Given the description of an element on the screen output the (x, y) to click on. 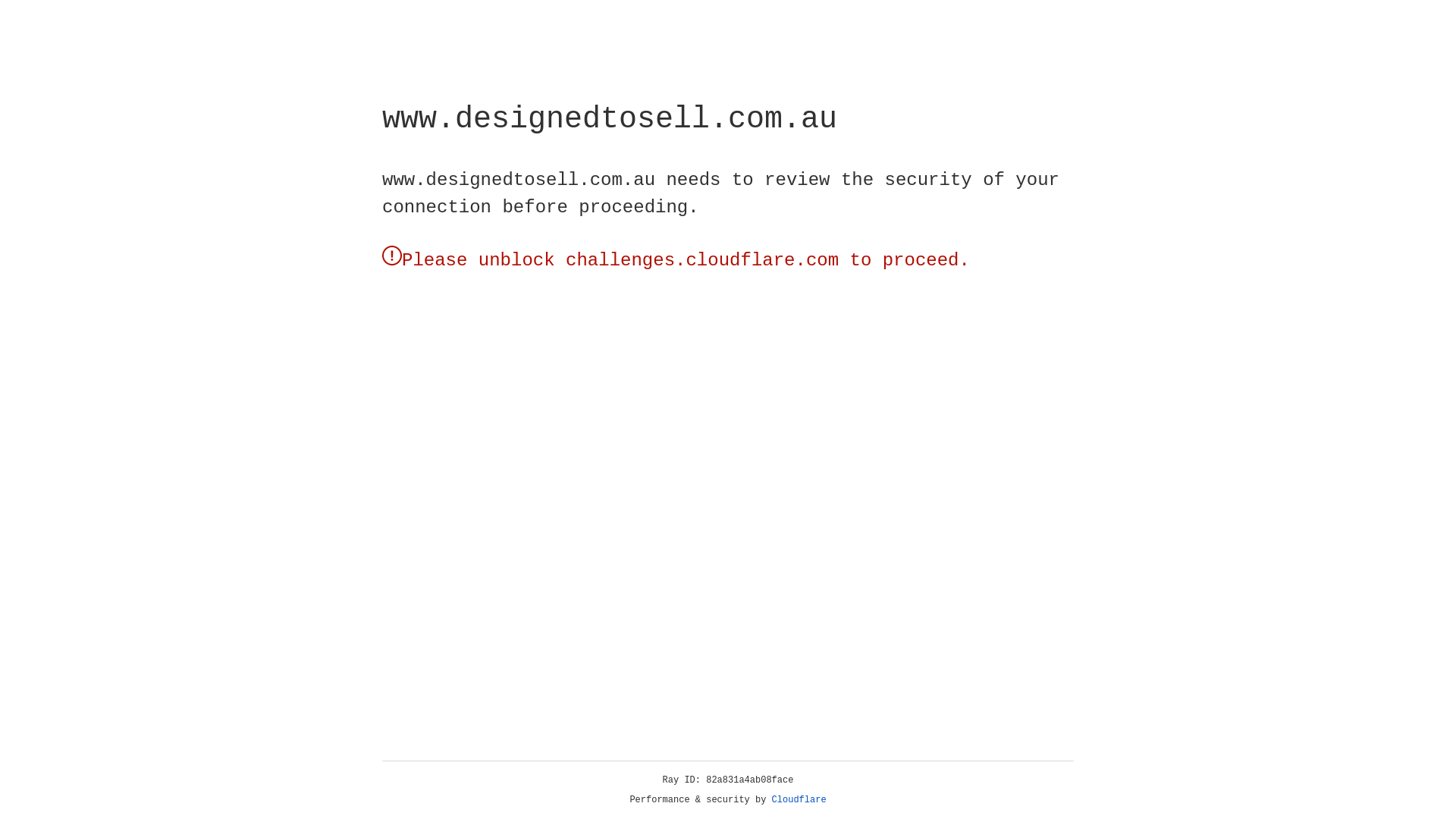
Cloudflare Element type: text (798, 799)
